Given the description of an element on the screen output the (x, y) to click on. 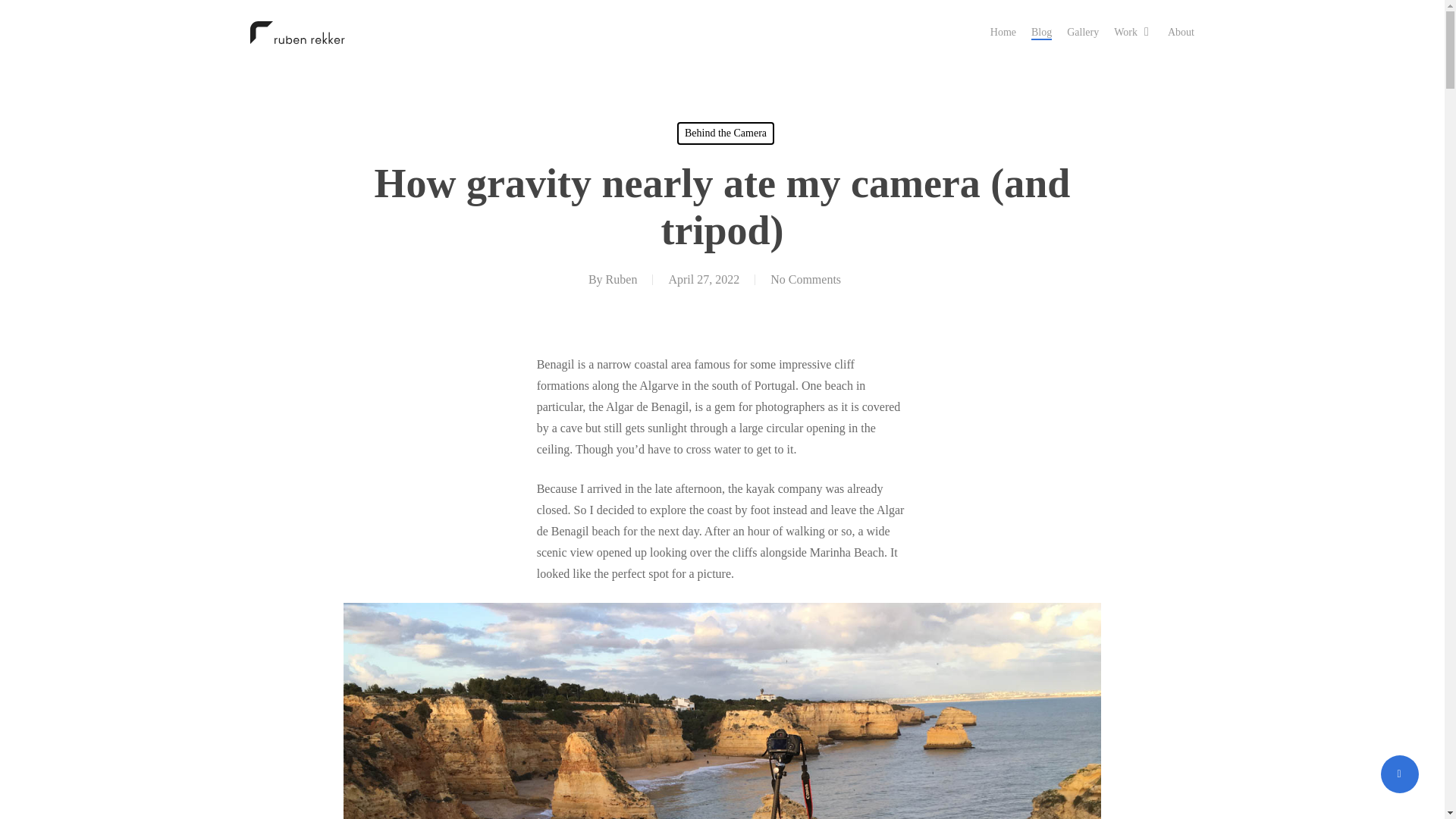
Behind the Camera (725, 133)
Posts by Ruben (621, 278)
No Comments (805, 278)
Gallery (1083, 32)
Ruben (621, 278)
Work (1133, 32)
About (1180, 32)
Home (1003, 32)
Blog (1040, 32)
